Given the description of an element on the screen output the (x, y) to click on. 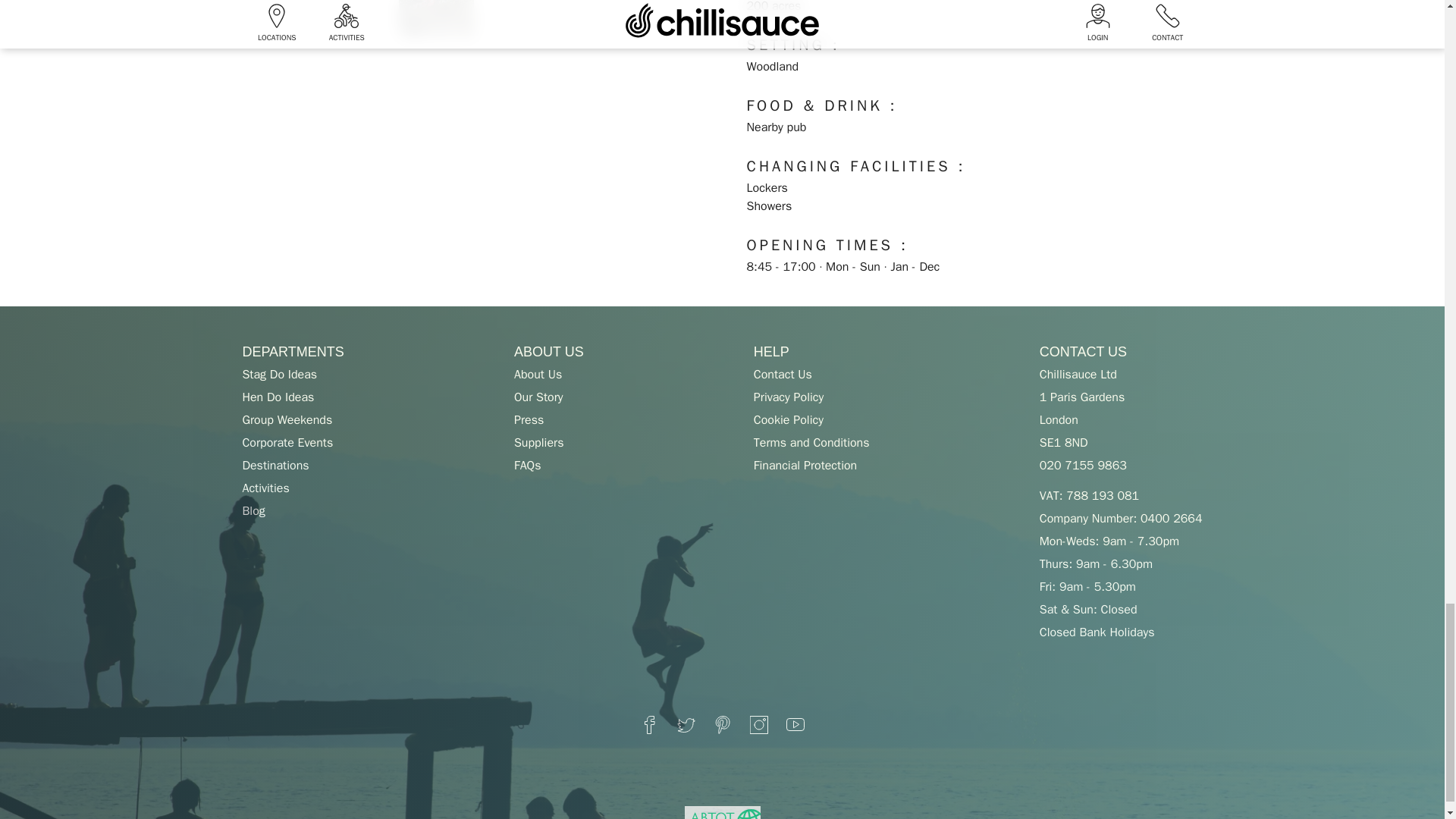
Privacy Policy (789, 396)
Press (528, 419)
About Us (537, 374)
Group Weekends (286, 419)
Suppliers (538, 442)
FAQs (526, 465)
Corporate Events (287, 442)
Hen Do Ideas (277, 396)
Blog (252, 510)
Contact Us (783, 374)
